Given the description of an element on the screen output the (x, y) to click on. 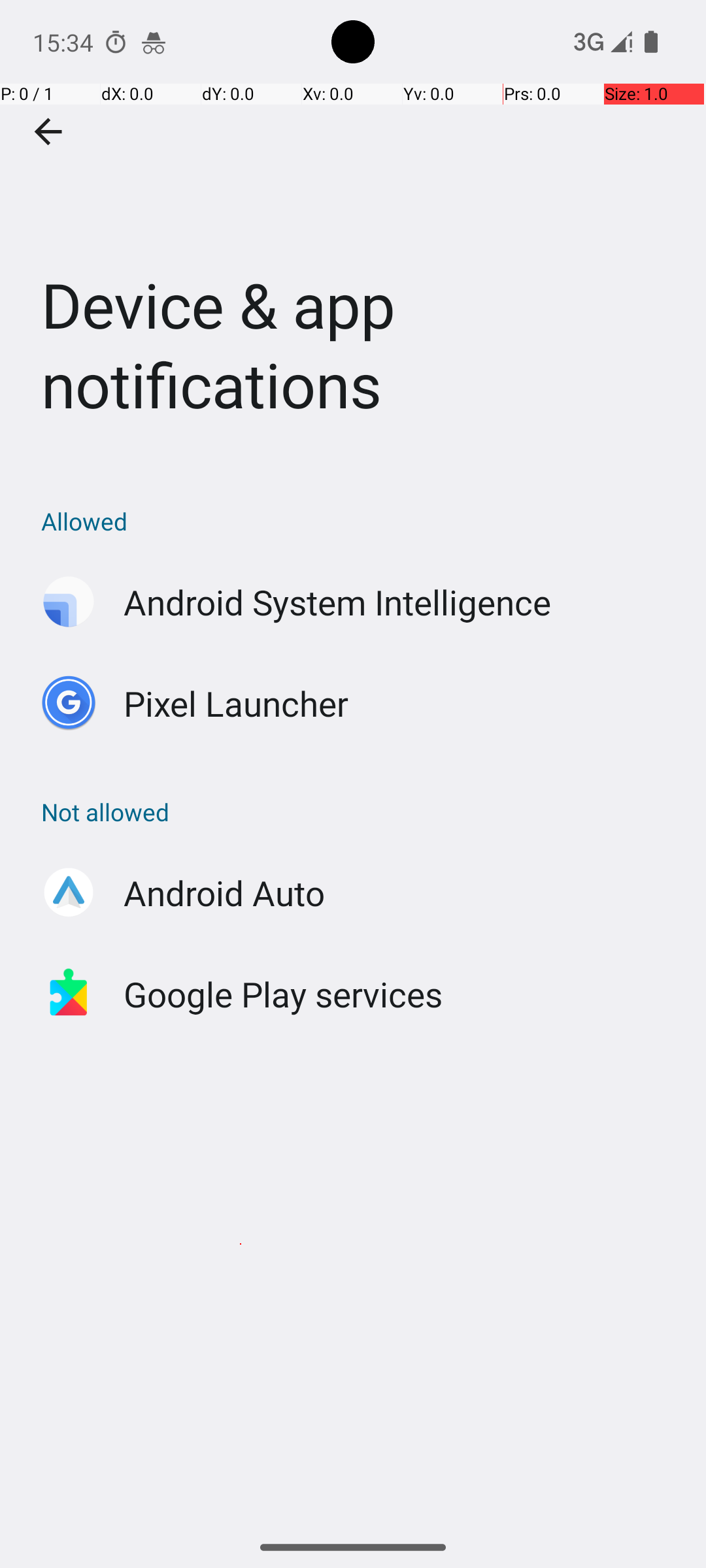
Android System Intelligence Element type: android.widget.TextView (337, 601)
Not allowed Element type: android.widget.TextView (359, 811)
